Given the description of an element on the screen output the (x, y) to click on. 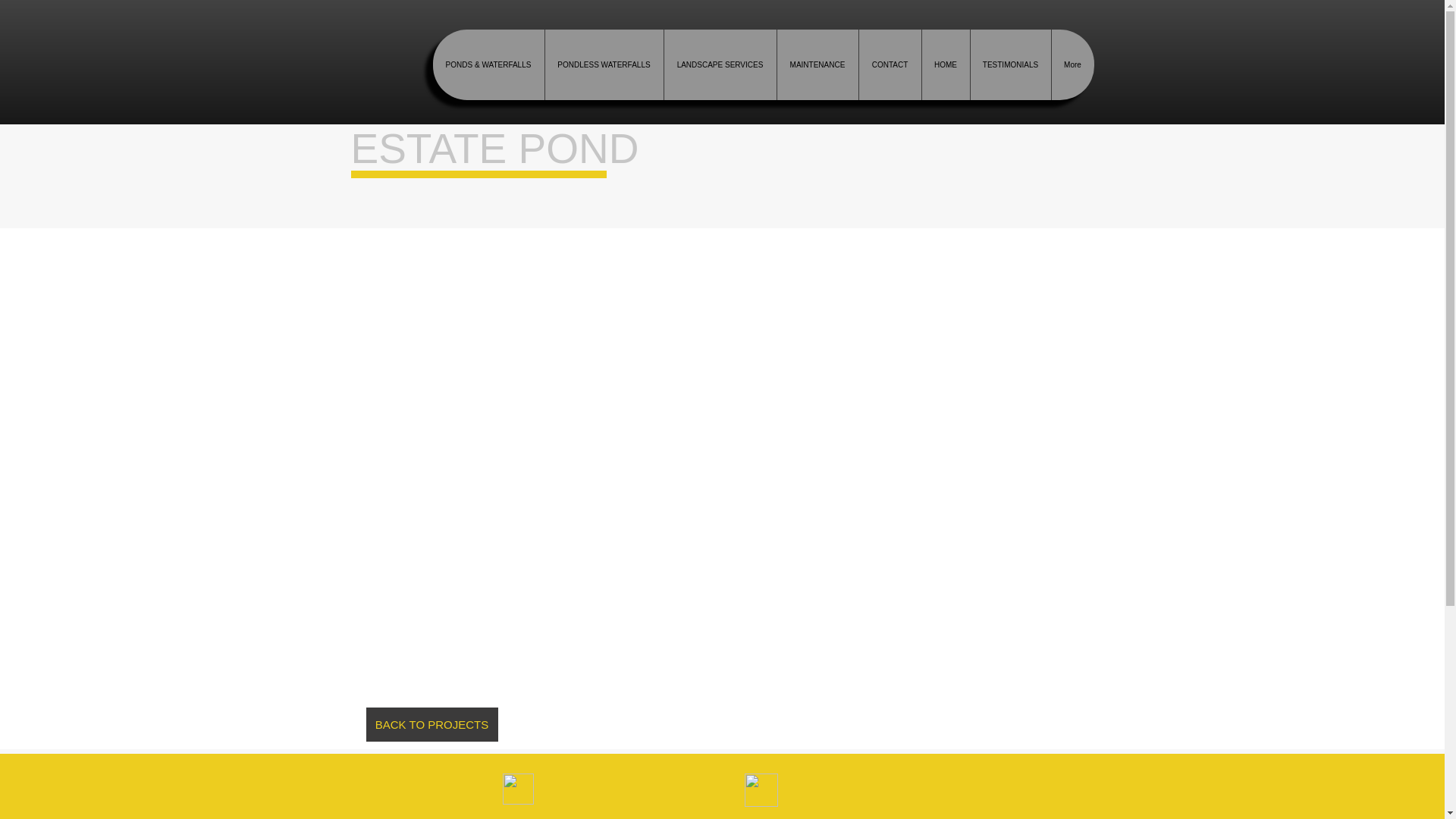
TESTIMONIALS (1009, 64)
BACK TO PROJECTS (431, 724)
LANDSCAPE SERVICES (719, 64)
MAINTENANCE (817, 64)
CONTACT (890, 64)
PONDLESS WATERFALLS (603, 64)
